Given the description of an element on the screen output the (x, y) to click on. 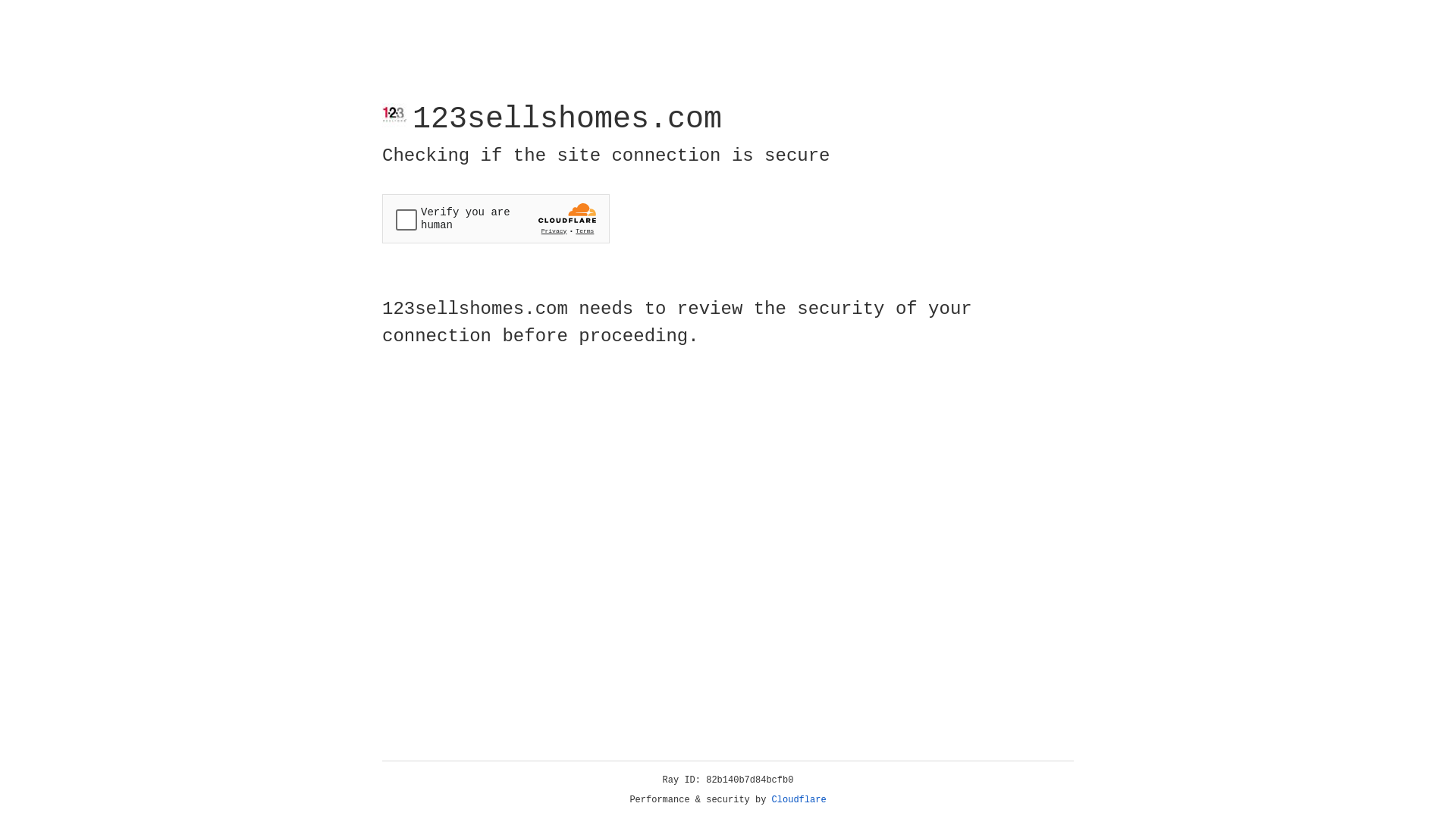
Widget containing a Cloudflare security challenge Element type: hover (495, 218)
Cloudflare Element type: text (798, 799)
